Given the description of an element on the screen output the (x, y) to click on. 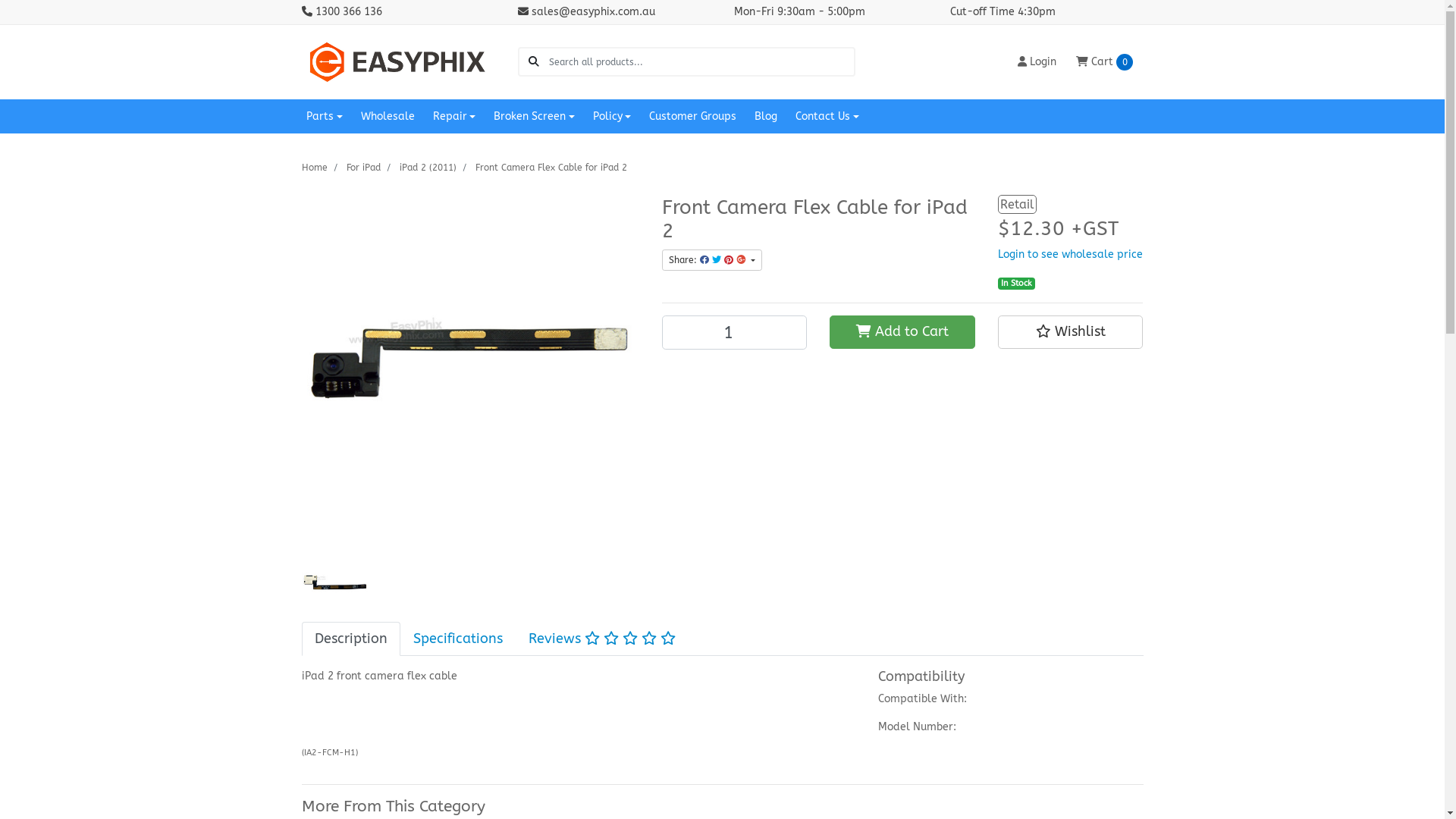
Wholesale Element type: text (387, 116)
Customer Groups Element type: text (692, 116)
Add to Cart Element type: text (902, 331)
Specifications Element type: text (457, 638)
iPad 2 (2011) Element type: text (426, 167)
Broken Screen Element type: text (533, 116)
Policy Element type: text (611, 116)
Parts Element type: text (324, 116)
EASYPHIX Mobile Phone Parts Element type: hover (398, 60)
Blog Element type: text (765, 116)
Repair Element type: text (454, 116)
Cart 0 Element type: text (1104, 61)
Home Element type: text (314, 167)
Share: Element type: text (711, 259)
Contact Us Element type: text (827, 116)
Reviews Element type: text (601, 638)
Search Element type: text (533, 61)
Front Camera Flex Cable for iPad 2 Element type: text (550, 167)
For iPad Element type: text (362, 167)
Description Element type: text (350, 638)
